Given the description of an element on the screen output the (x, y) to click on. 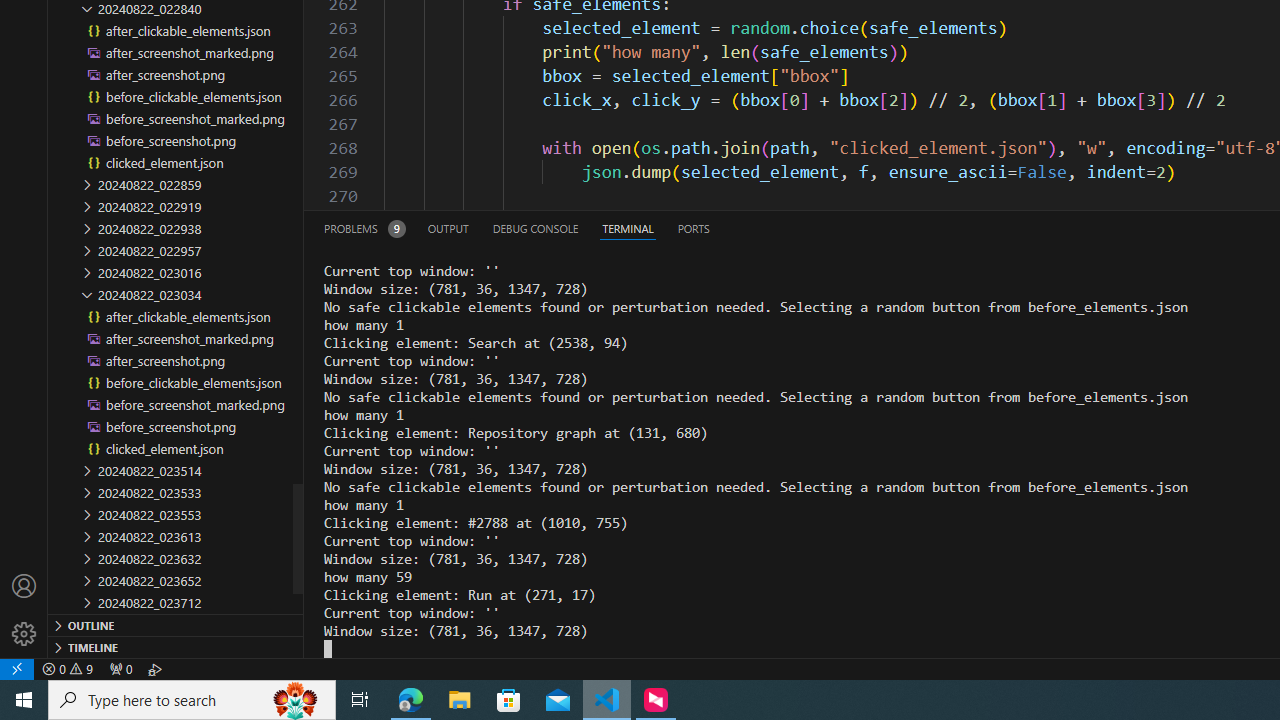
Debug:  (155, 668)
Output (Ctrl+Shift+U) (447, 228)
Terminal (Ctrl+`) (627, 228)
No Ports Forwarded (120, 668)
Warnings: 9 (67, 668)
Accounts (24, 585)
Timeline Section (175, 646)
Problems (Ctrl+Shift+M) - Total 9 Problems (364, 228)
remote (17, 668)
Debug Console (Ctrl+Shift+Y) (535, 228)
Outline Section (175, 624)
Ports (693, 228)
